Given the description of an element on the screen output the (x, y) to click on. 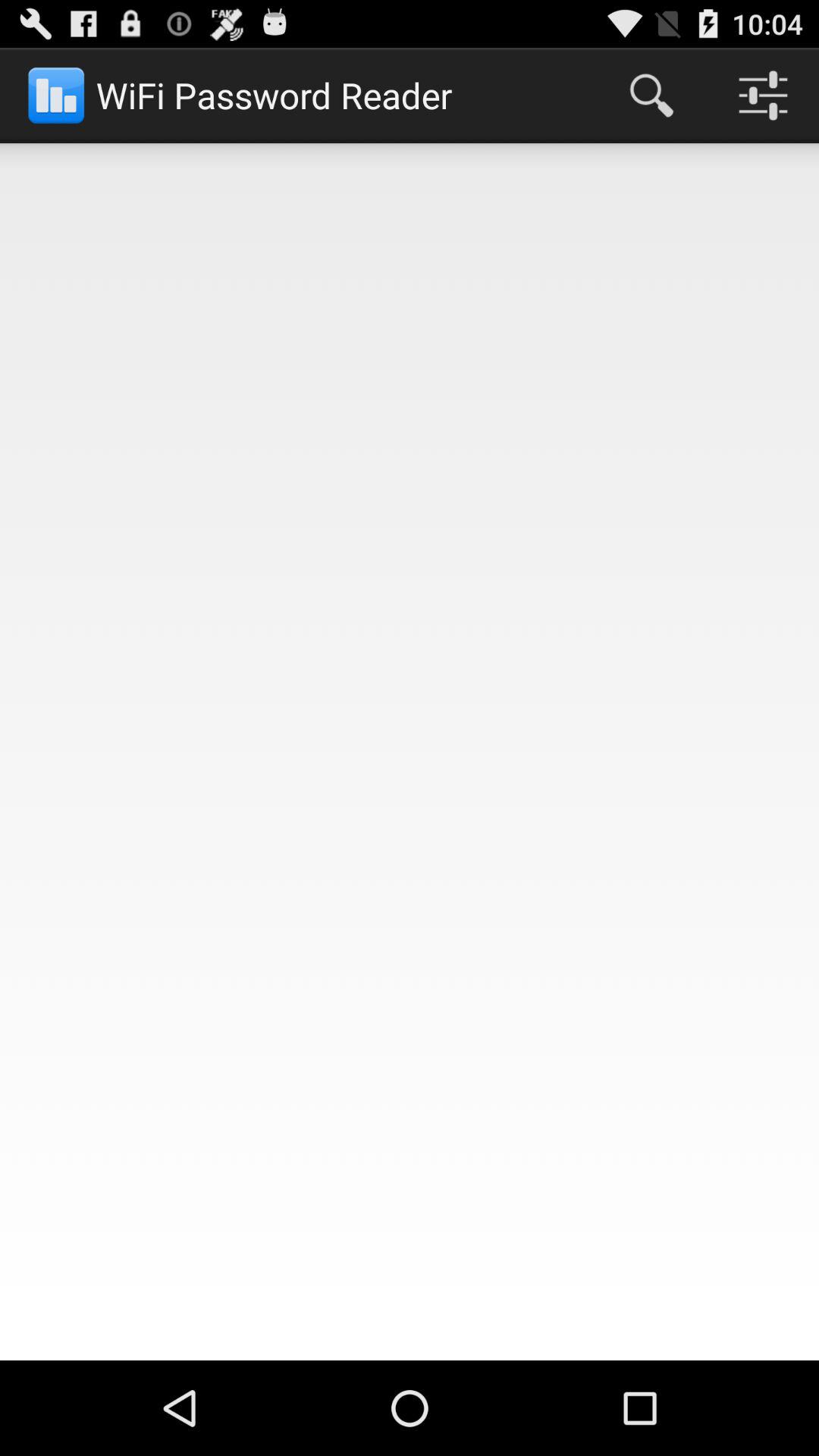
select app next to wifi password reader app (651, 95)
